Given the description of an element on the screen output the (x, y) to click on. 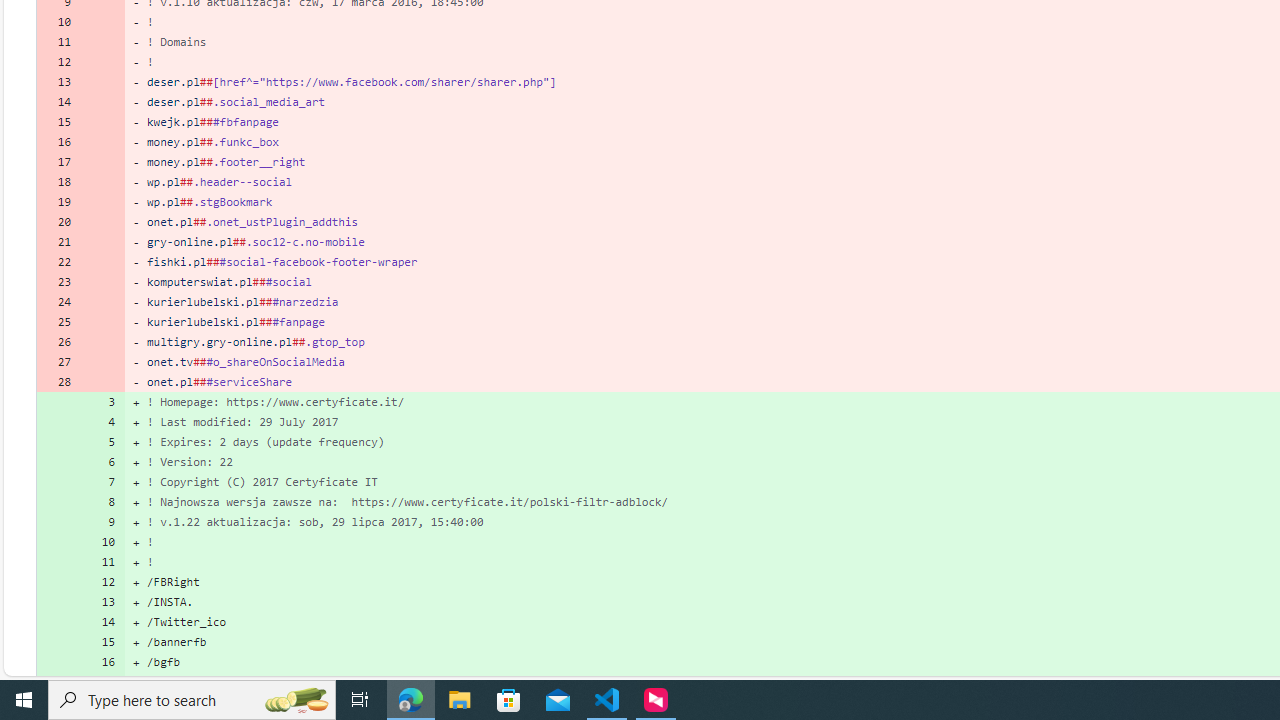
25 (58, 321)
Class: blob-num blob-num-deletion empty-cell (102, 381)
9 (102, 521)
26 (58, 341)
27 (58, 362)
23 (58, 282)
15 (102, 642)
22 (58, 261)
7 (102, 481)
19 (58, 201)
14 (102, 622)
28 (58, 381)
21 (58, 241)
11 (102, 561)
Class: blob-num blob-num-addition empty-cell (58, 681)
